Given the description of an element on the screen output the (x, y) to click on. 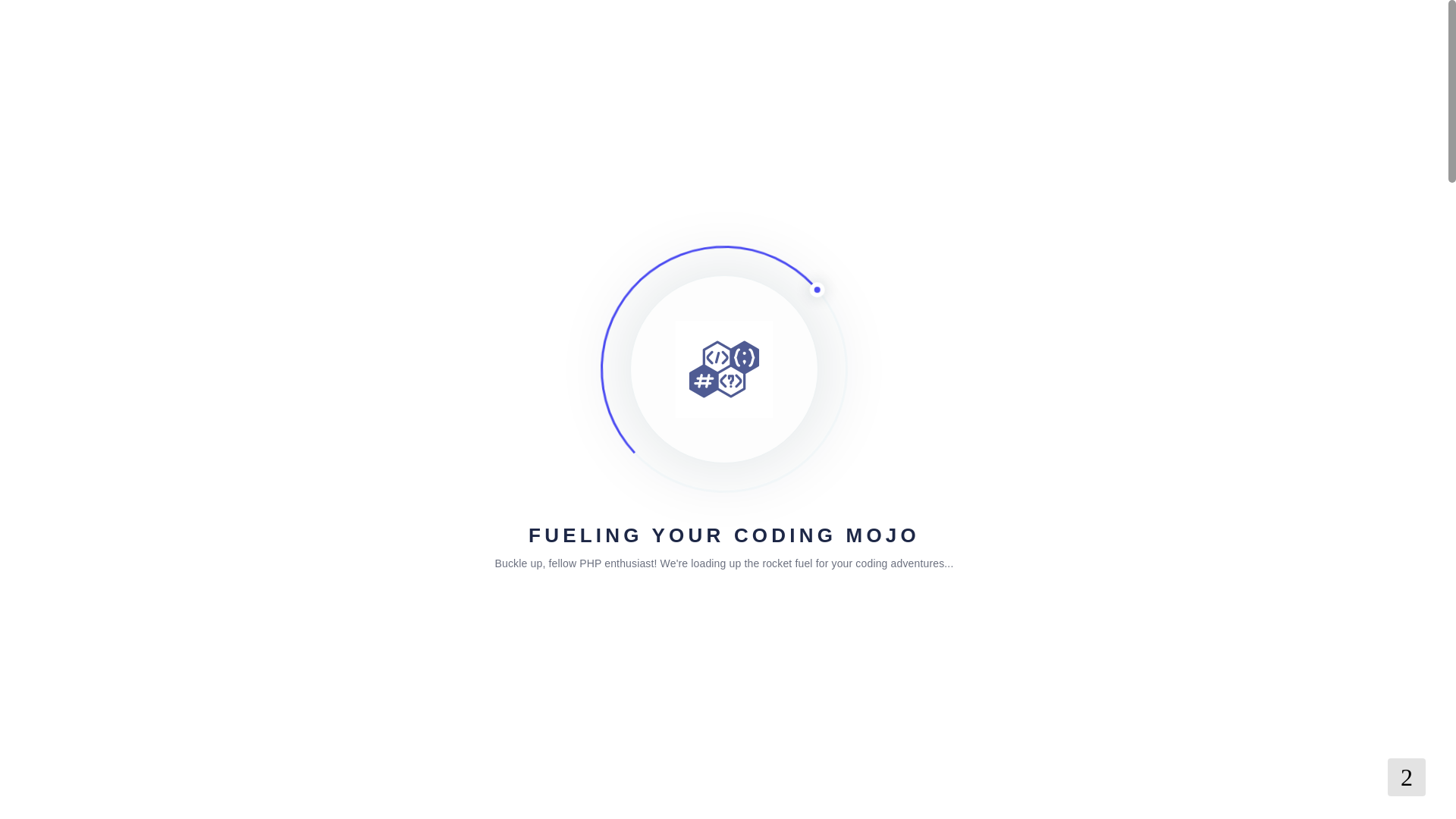
Home (294, 314)
Back to Top (1406, 777)
jmaggio (313, 433)
Installation on Windows Systems (477, 314)
Question (336, 512)
Ask Question (882, 441)
Community (353, 314)
